Given the description of an element on the screen output the (x, y) to click on. 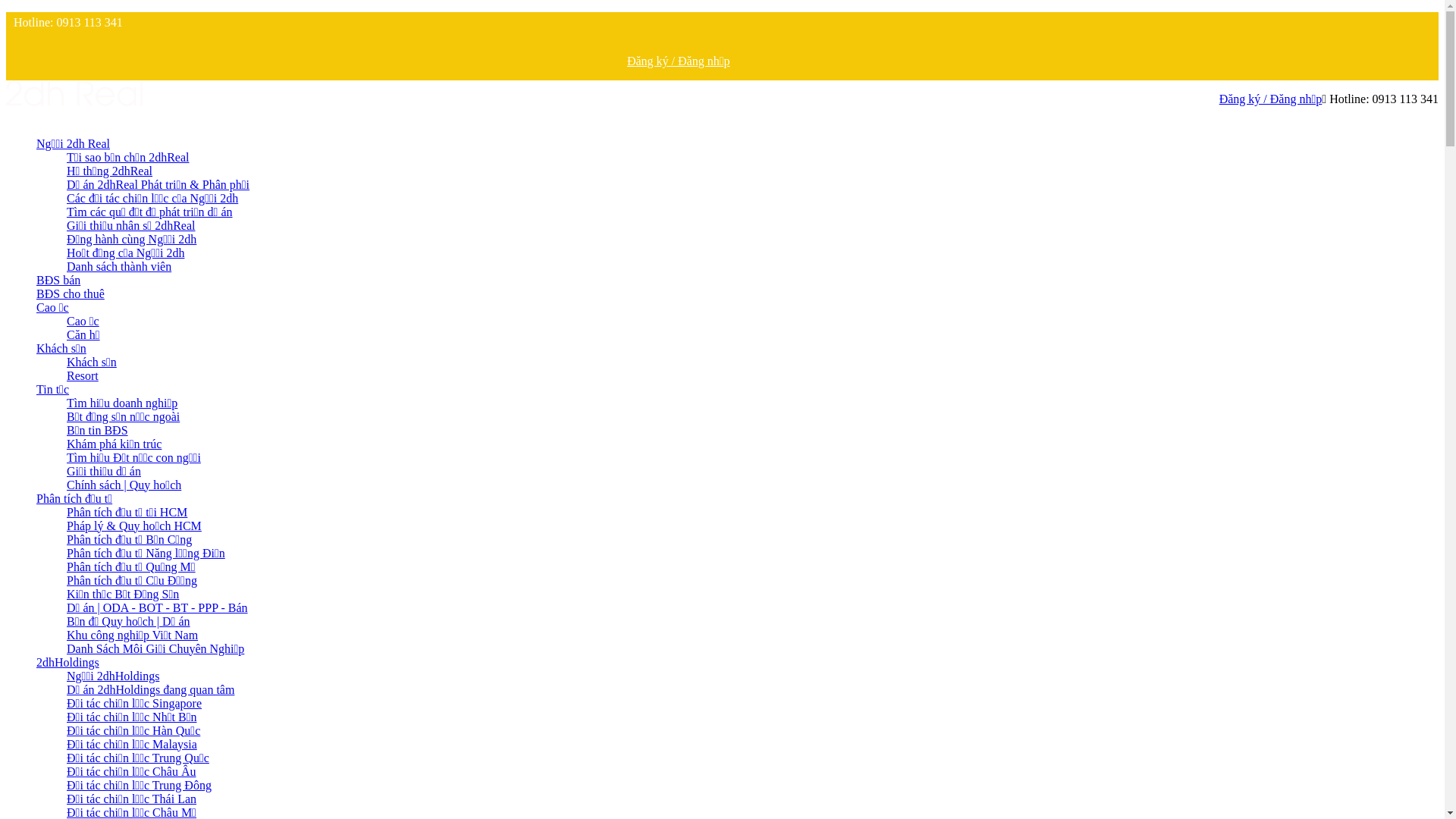
Resort Element type: text (82, 375)
2dhHoldings Element type: text (67, 661)
